Given the description of an element on the screen output the (x, y) to click on. 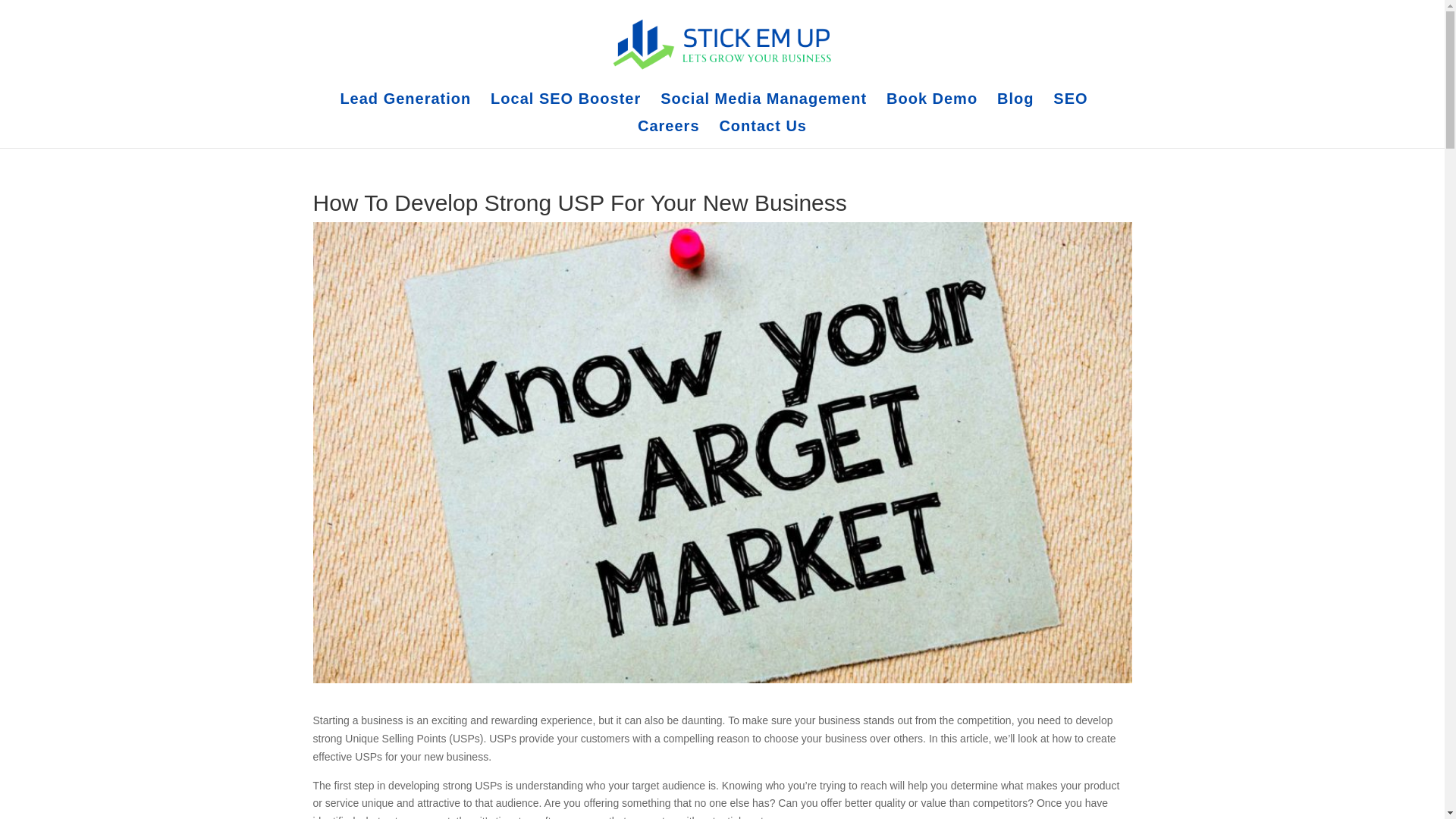
SEO (1069, 106)
Contact Us (762, 134)
Local SEO Booster (565, 106)
Careers (668, 134)
Social Media Management (763, 106)
Lead Generation (404, 106)
Book Demo (931, 106)
Blog (1015, 106)
